Given the description of an element on the screen output the (x, y) to click on. 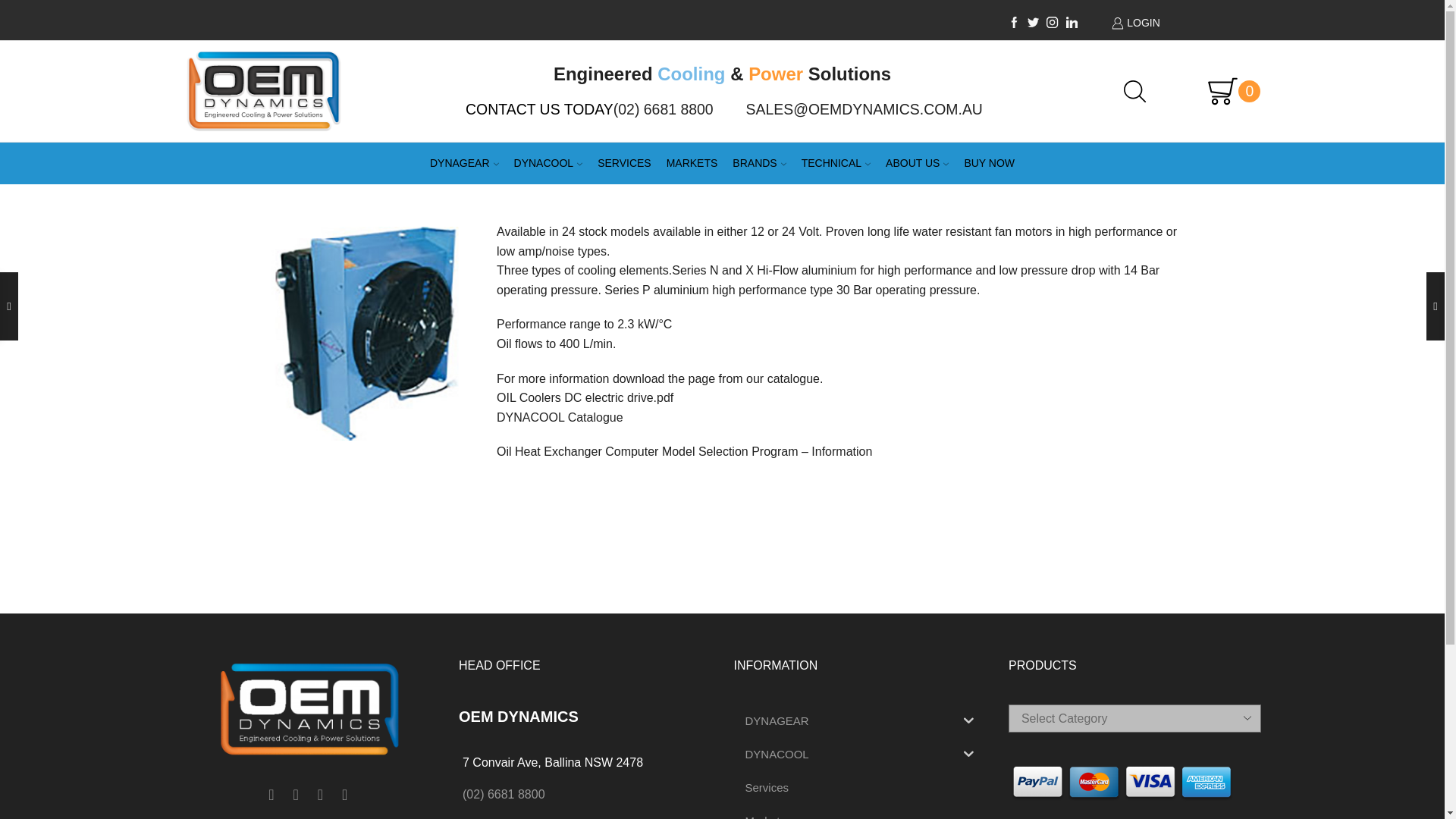
0 (1226, 90)
Log in (1149, 313)
DYNAGEAR (464, 163)
Downloads Form (559, 417)
LOGIN (1180, 22)
